Given the description of an element on the screen output the (x, y) to click on. 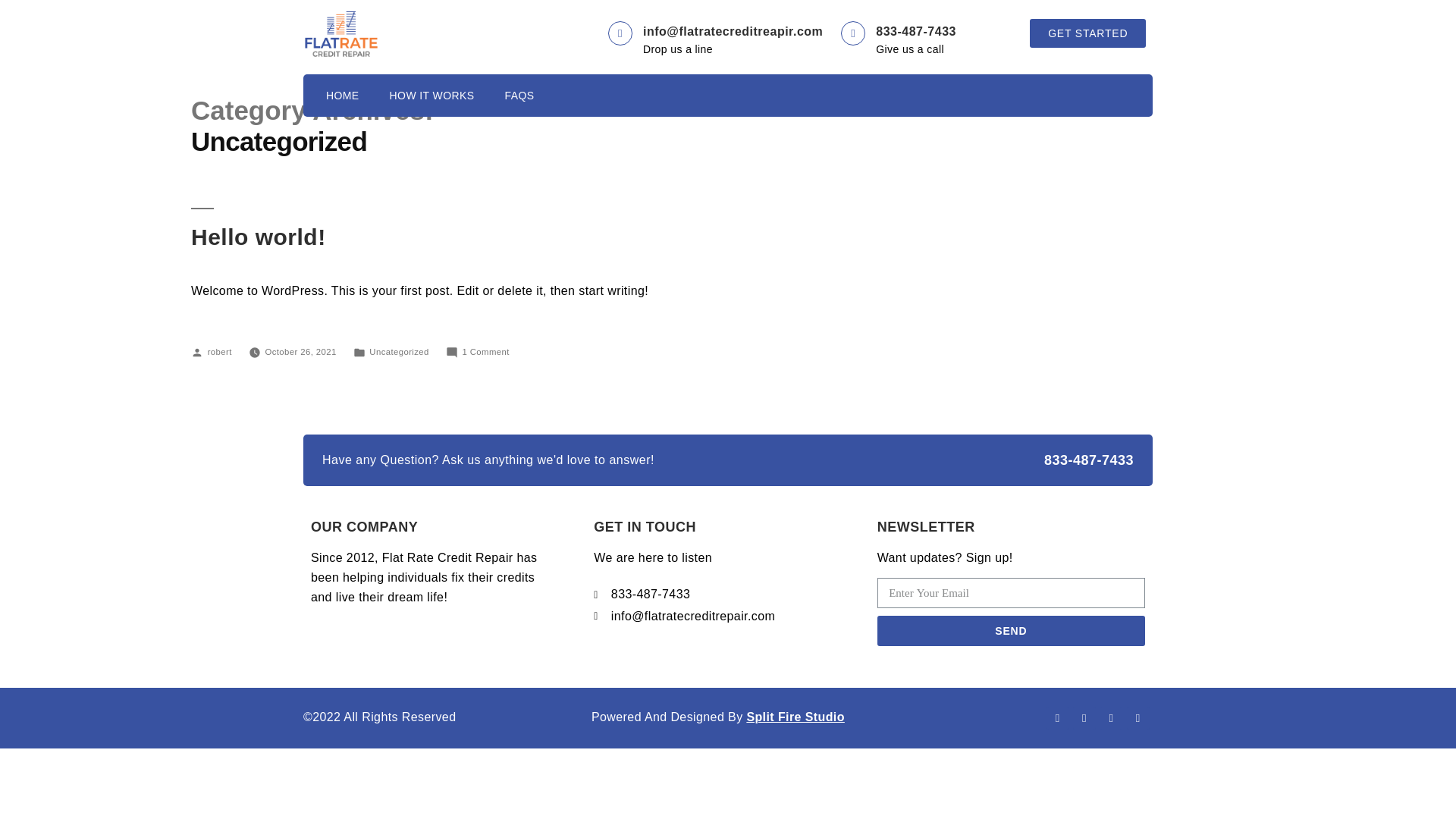
GET STARTED (1087, 32)
HOME (342, 95)
Uncategorized (398, 351)
HOW IT WORKS (431, 95)
robert (219, 351)
1 Comment (484, 351)
Hello world! (258, 236)
SEND (1010, 630)
FAQS (518, 95)
Split Fire Studio (794, 716)
October 26, 2021 (300, 351)
